Given the description of an element on the screen output the (x, y) to click on. 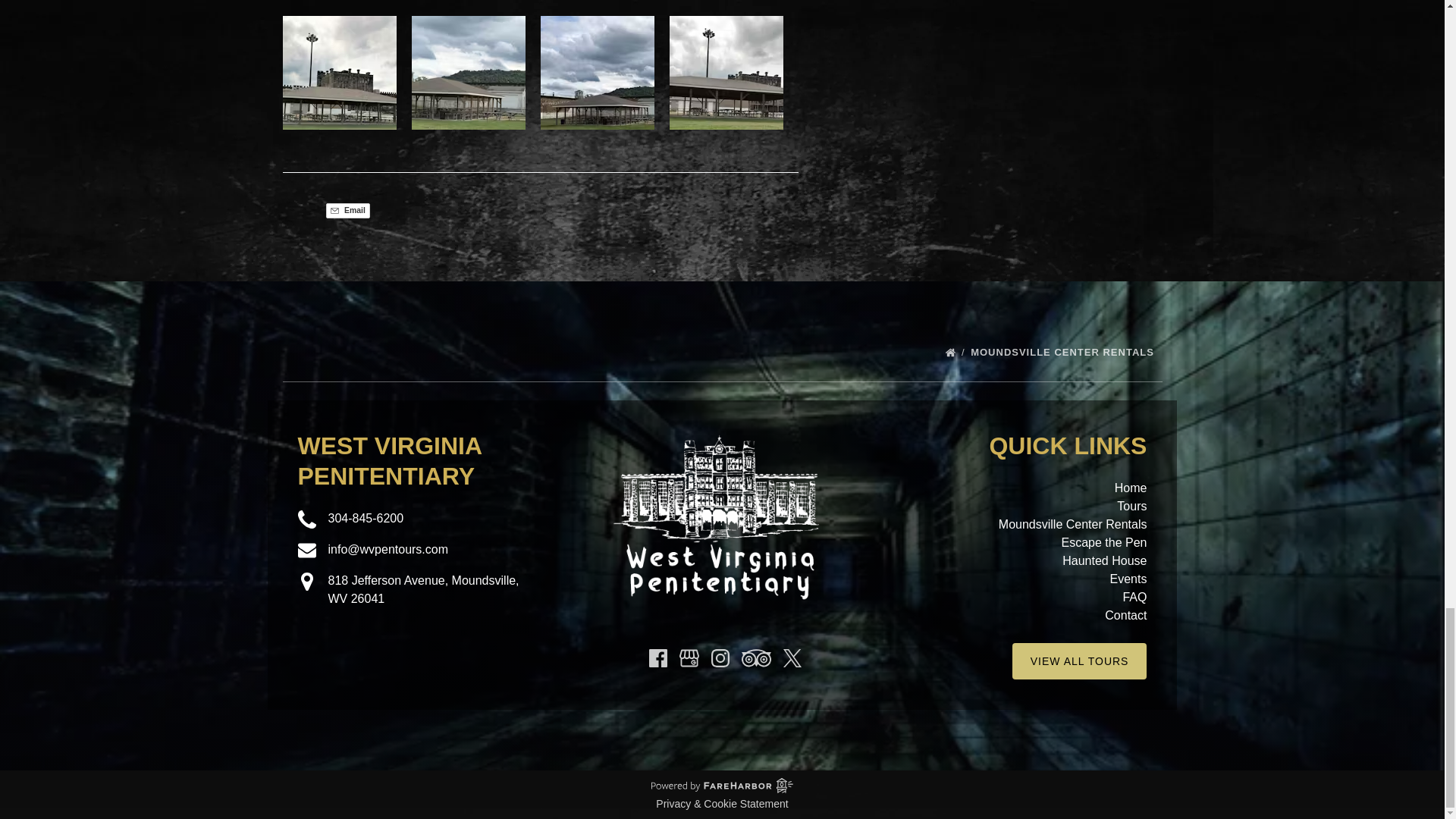
Envelope (306, 550)
Phone (306, 519)
Map Marker (306, 581)
